Given the description of an element on the screen output the (x, y) to click on. 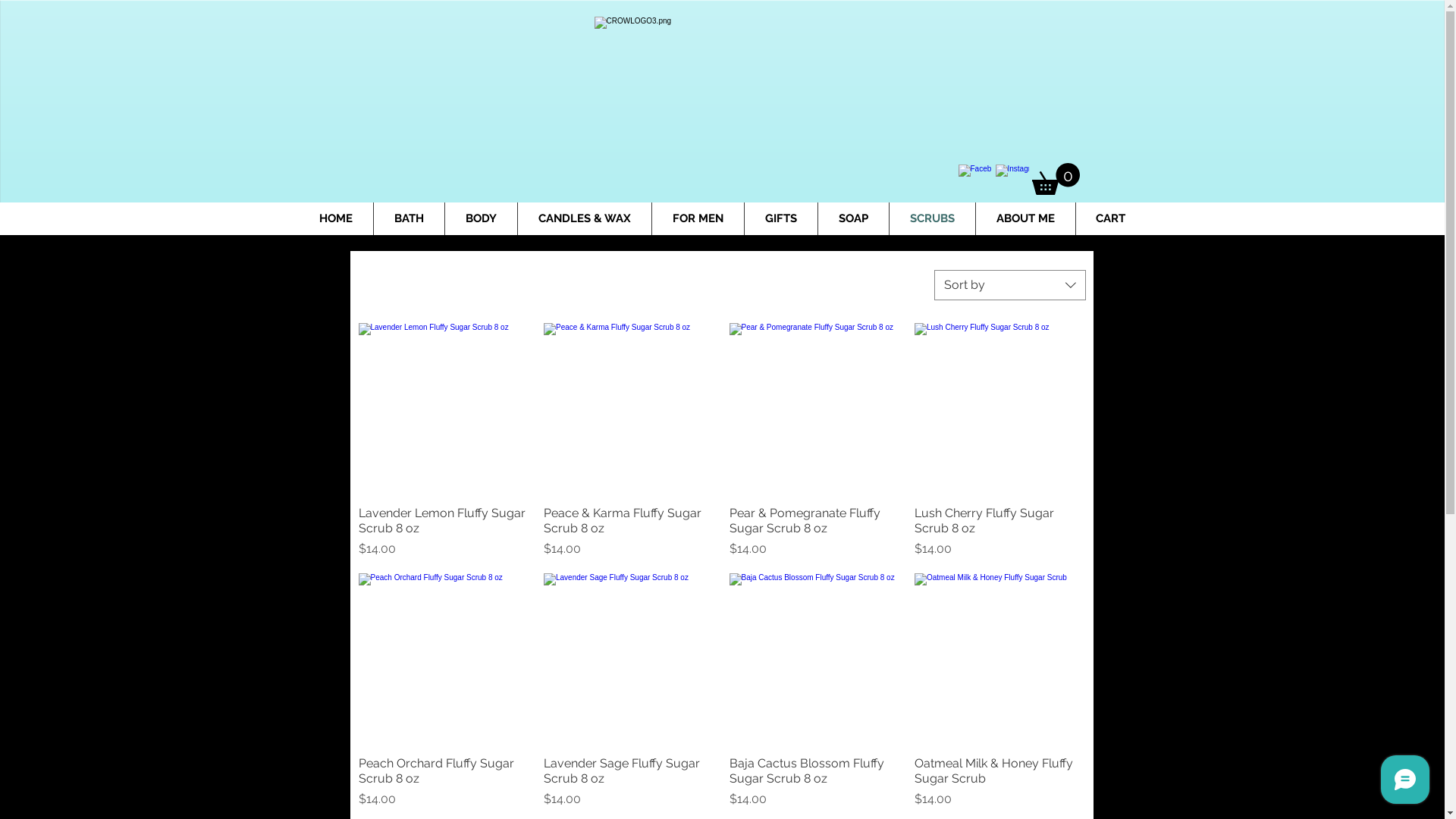
Site Search Element type: hover (455, 178)
FOR MEN Element type: text (697, 218)
Oatmeal Milk & Honey Fluffy Sugar Scrub
Price
$14.00 Element type: text (999, 782)
Lush Cherry Fluffy Sugar Scrub 8 oz
Price
$14.00 Element type: text (999, 531)
0 Element type: text (1055, 178)
Sort by Element type: text (1009, 284)
Lavender Sage Fluffy Sugar Scrub 8 oz
Price
$14.00 Element type: text (628, 782)
Pear & Pomegranate Fluffy Sugar Scrub 8 oz
Price
$14.00 Element type: text (814, 531)
Peace & Karma Fluffy Sugar Scrub 8 oz
Price
$14.00 Element type: text (628, 531)
BODY Element type: text (480, 218)
HOME Element type: text (335, 218)
CART Element type: text (1110, 218)
Peach Orchard Fluffy Sugar Scrub 8 oz
Price
$14.00 Element type: text (442, 782)
CANDLES & WAX Element type: text (583, 218)
Lavender Lemon Fluffy Sugar Scrub 8 oz
Price
$14.00 Element type: text (442, 531)
GIFTS Element type: text (780, 218)
Baja Cactus Blossom Fluffy Sugar Scrub 8 oz
Price
$14.00 Element type: text (814, 782)
SOAP Element type: text (852, 218)
ABOUT ME Element type: text (1024, 218)
BATH Element type: text (408, 218)
SCRUBS Element type: text (931, 218)
